Given the description of an element on the screen output the (x, y) to click on. 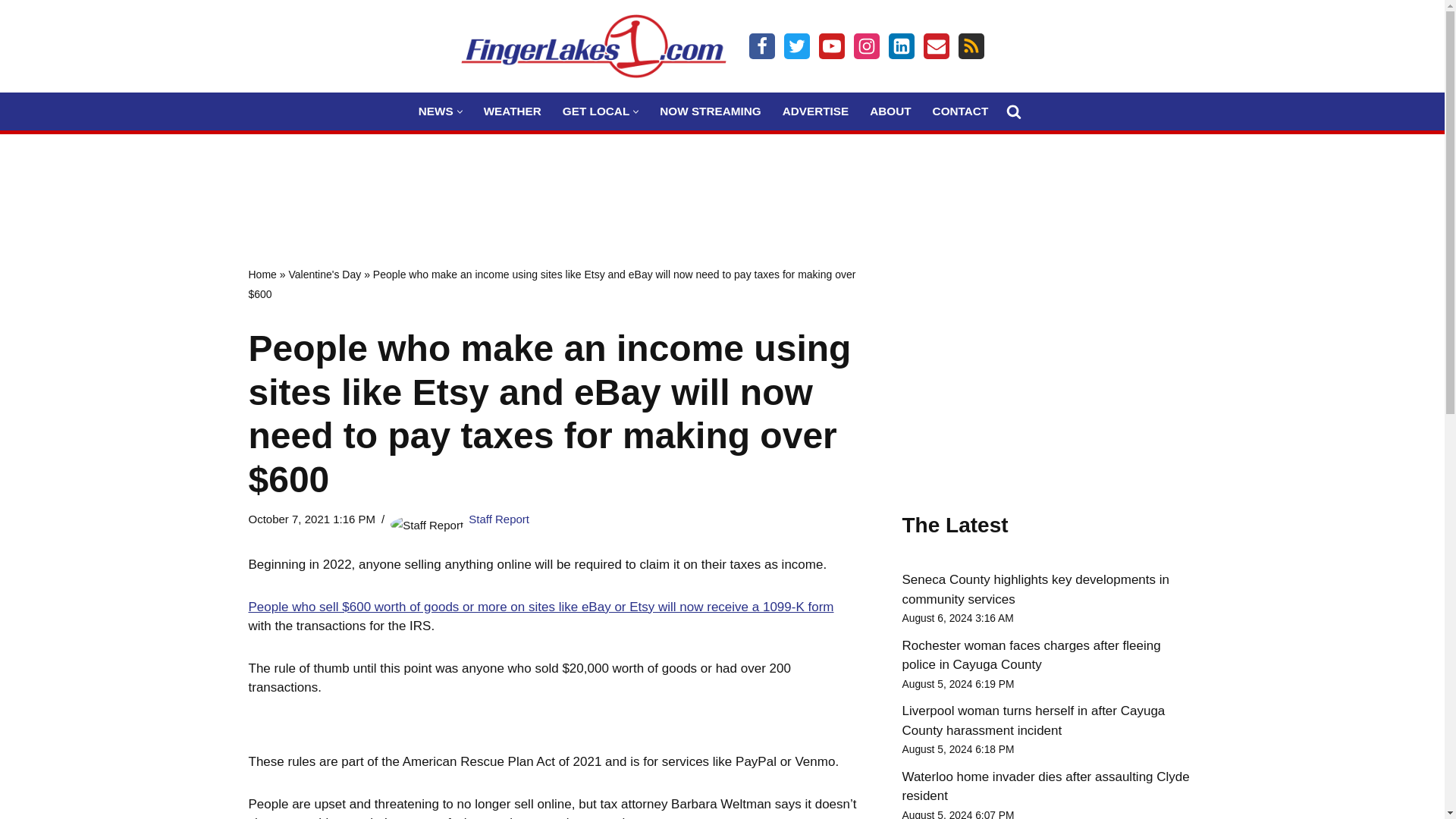
Youtube (831, 45)
WEATHER (512, 111)
CONTACT (960, 111)
Email Us (936, 45)
Twitter (796, 45)
NOW STREAMING (709, 111)
GET LOCAL (595, 111)
Instagram (866, 45)
Skip to content (11, 31)
NEWS (435, 111)
